Given the description of an element on the screen output the (x, y) to click on. 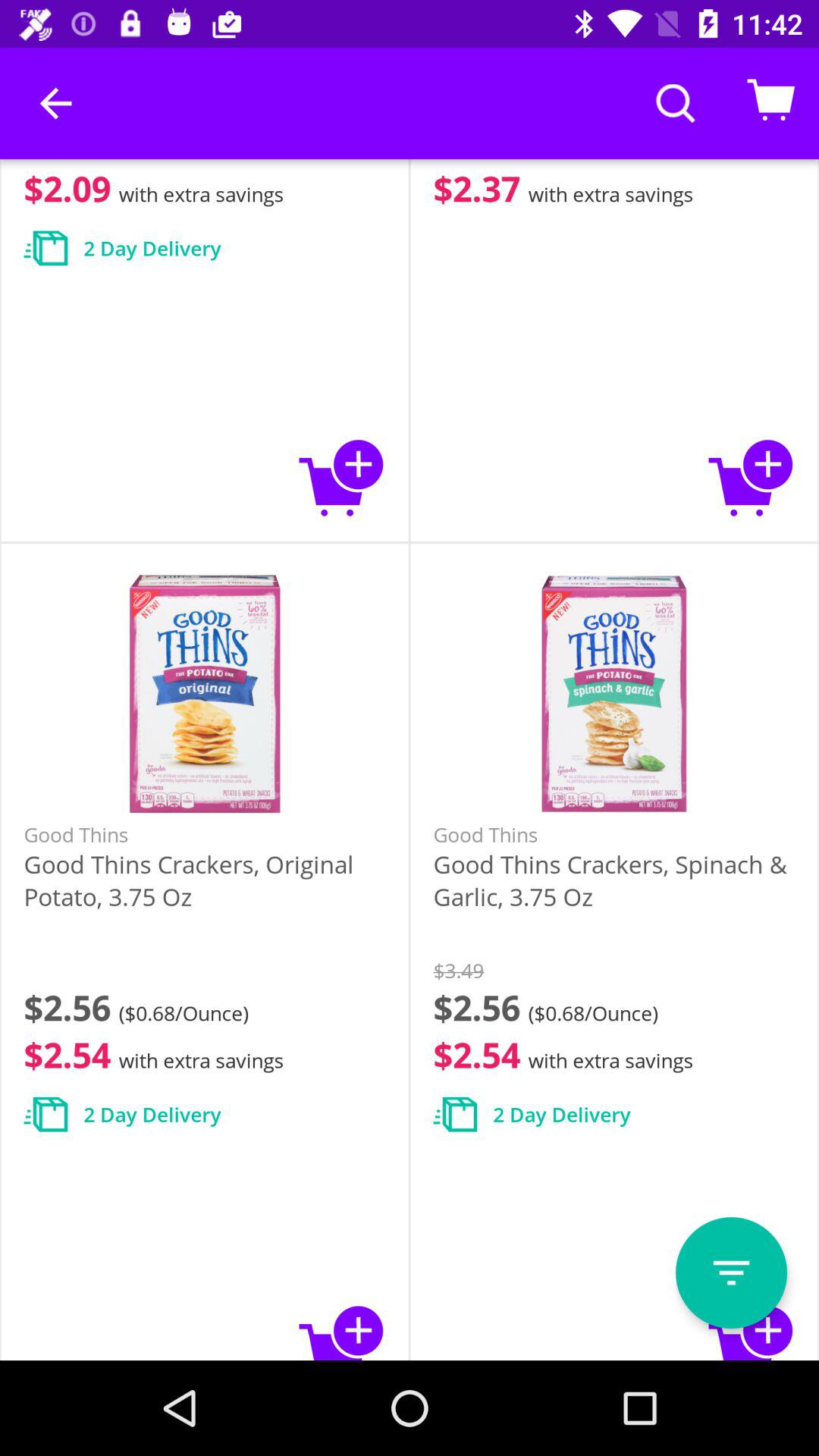
choose icon above $2.11 icon (55, 103)
